Given the description of an element on the screen output the (x, y) to click on. 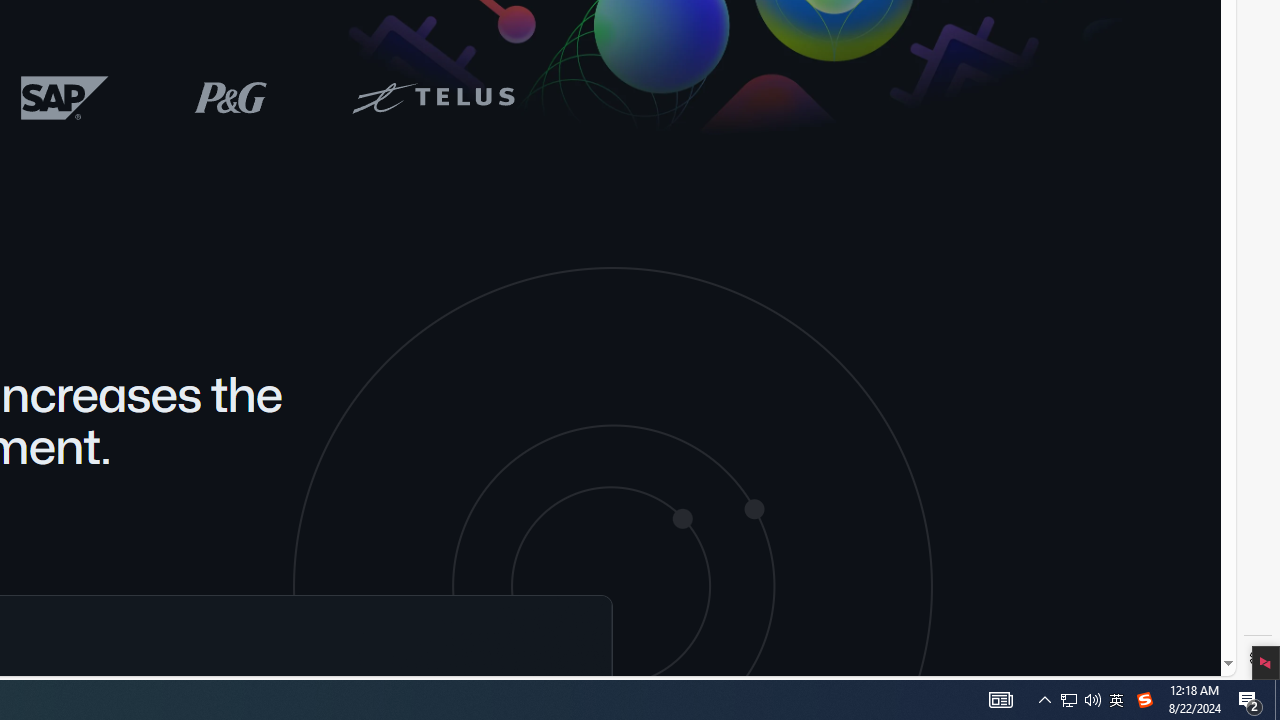
P&G logo (230, 96)
Telus logo (432, 96)
SAP logo (65, 97)
